Given the description of an element on the screen output the (x, y) to click on. 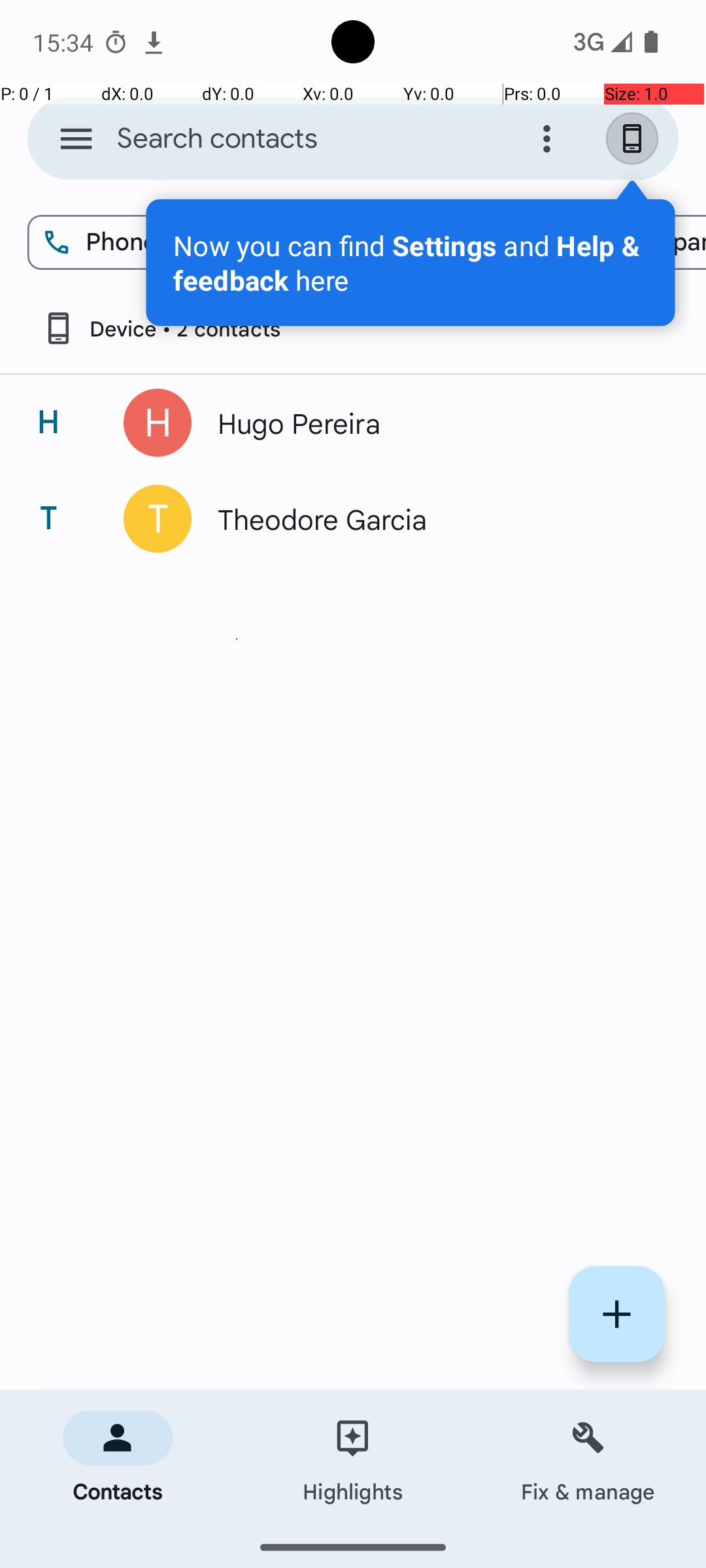
Device • 2 contacts Element type: android.widget.TextView (161, 328)
Hugo Pereira Element type: android.widget.TextView (434, 422)
Theodore Garcia Element type: android.widget.TextView (434, 518)
Chrome notification: m.youtube.com Element type: android.widget.ImageView (153, 41)
